Given the description of an element on the screen output the (x, y) to click on. 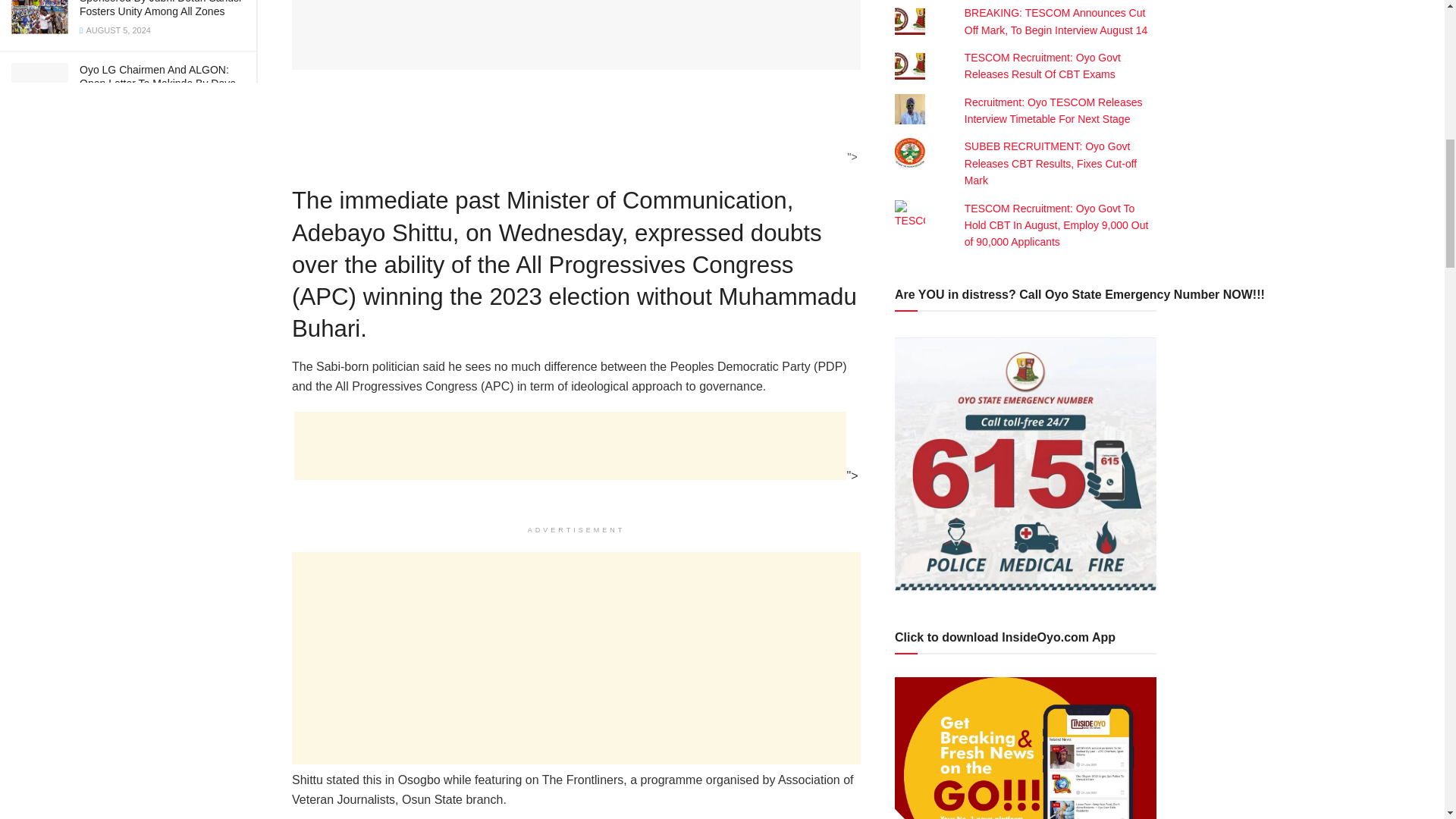
TESCOM Recruitment: Oyo Govt Releases Result Of CBT Exams (1042, 65)
